Given the description of an element on the screen output the (x, y) to click on. 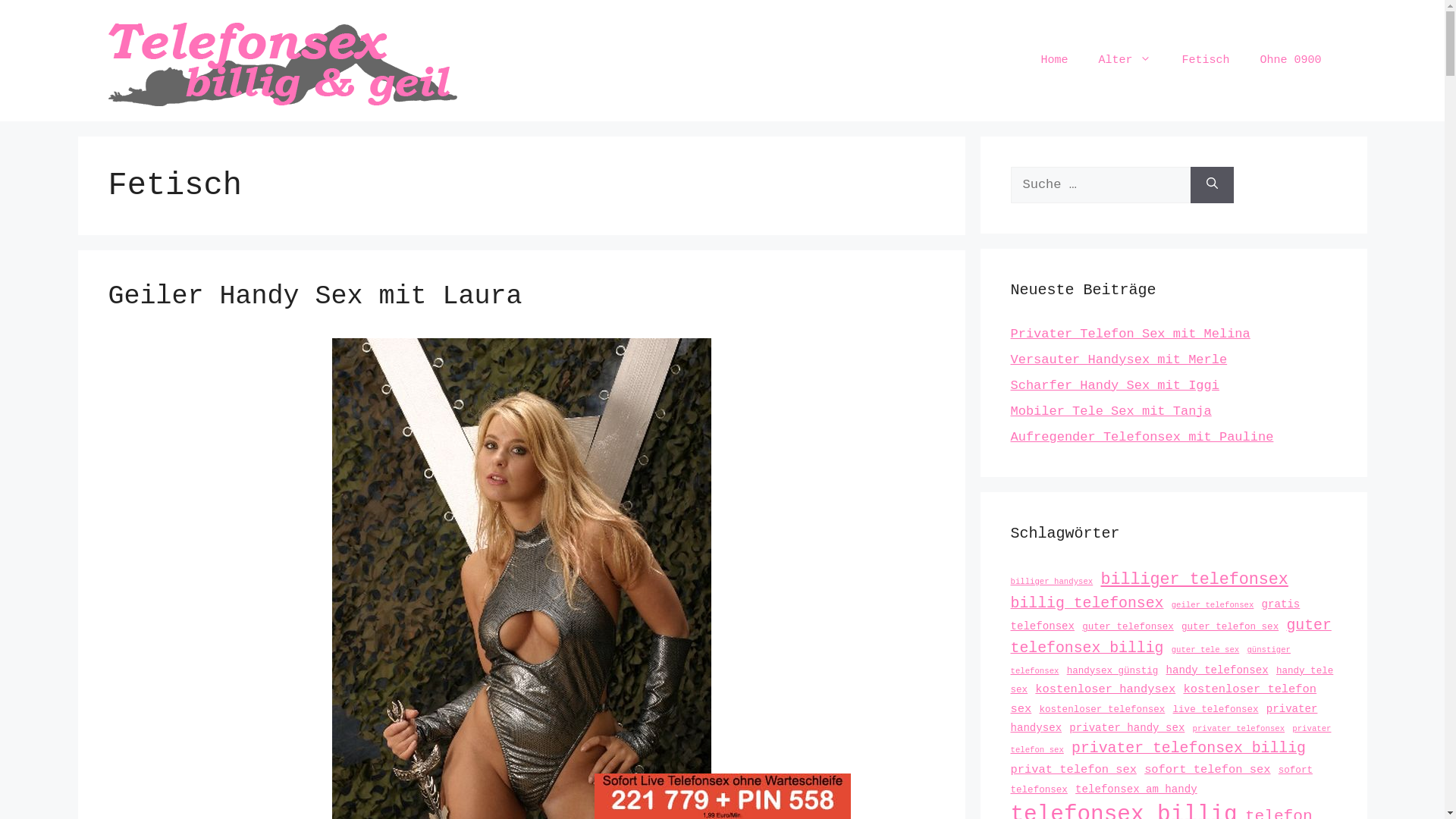
handy telefonsex Element type: text (1216, 670)
geiler telefonsex Element type: text (1212, 604)
Fetisch Element type: text (1205, 60)
kostenloser telefonsex Element type: text (1101, 709)
privater handysex Element type: text (1163, 718)
Privater Telefon Sex mit Melina Element type: text (1129, 333)
guter telefon sex Element type: text (1229, 626)
privater telefonsex billig Element type: text (1188, 748)
gratis telefonsex Element type: text (1154, 615)
telefonsex am handy Element type: text (1136, 789)
Home Element type: text (1053, 60)
kostenloser handysex Element type: text (1105, 689)
privat telefon sex Element type: text (1072, 769)
privater telefonsex Element type: text (1238, 728)
Aufregender Telefonsex mit Pauline Element type: text (1141, 436)
Suche nach: Element type: hover (1099, 184)
privater handy sex Element type: text (1126, 727)
handy tele sex Element type: text (1171, 680)
Scharfer Handy Sex mit Iggi Element type: text (1114, 384)
guter tele sex Element type: text (1205, 649)
kostenloser telefon sex Element type: text (1163, 698)
Mobiler Tele Sex mit Tanja Element type: text (1110, 410)
guter telefonsex Element type: text (1127, 626)
Ohne 0900 Element type: text (1290, 60)
Alter Element type: text (1124, 60)
billiger handysex Element type: text (1051, 581)
live telefonsex Element type: text (1215, 709)
privater telefon sex Element type: text (1170, 739)
Geiler Handy Sex mit Laura Element type: text (314, 296)
billiger telefonsex Element type: text (1193, 579)
sofort telefon sex Element type: text (1207, 769)
sofort telefonsex Element type: text (1160, 780)
guter telefonsex billig Element type: text (1170, 636)
Versauter Handysex mit Merle Element type: text (1118, 358)
billig telefonsex Element type: text (1086, 603)
